Given the description of an element on the screen output the (x, y) to click on. 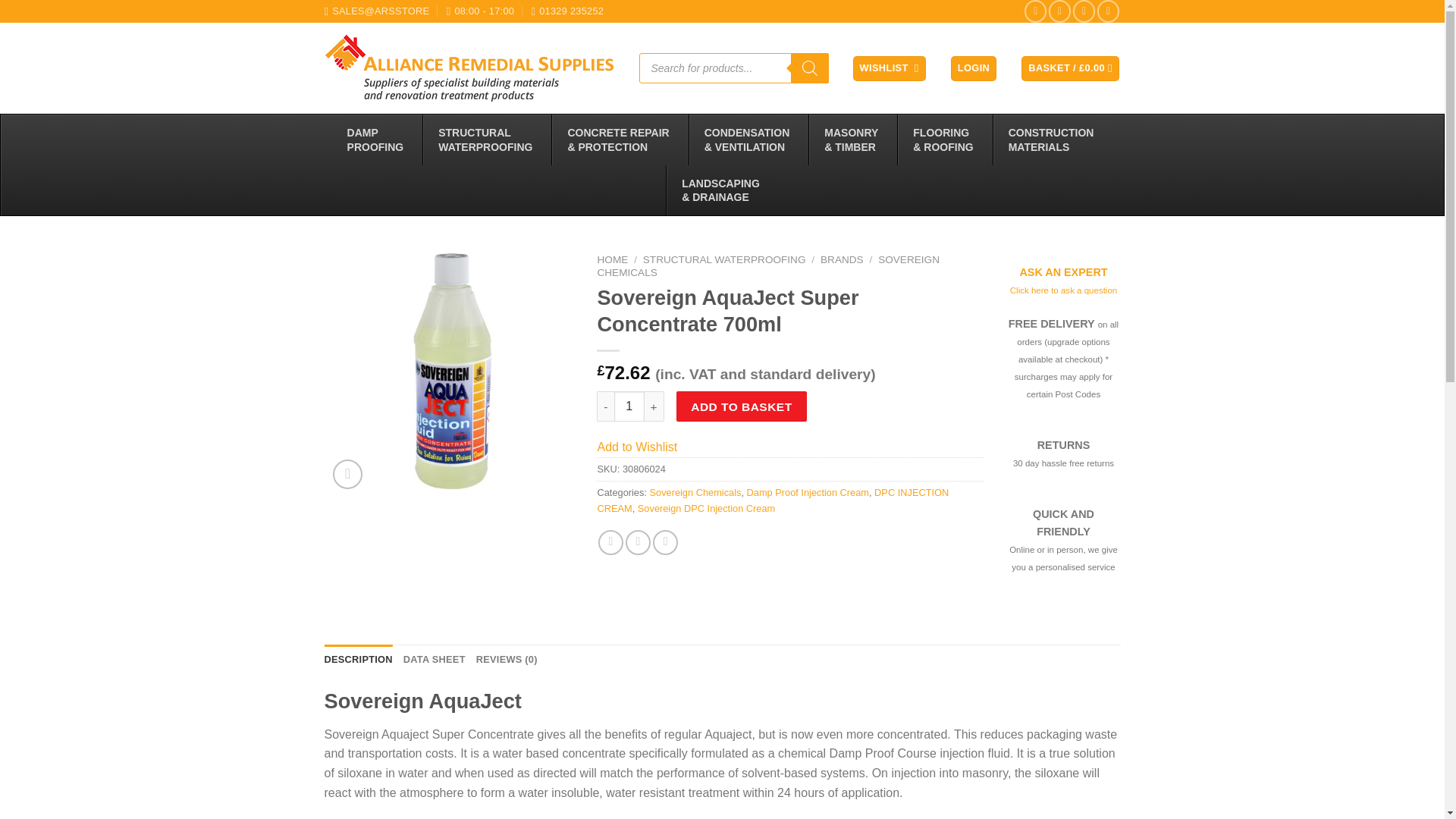
LOGIN (972, 68)
Follow on Facebook (1035, 11)
01329 235252 (567, 11)
01329 235252 (567, 11)
WISHLIST (889, 68)
Follow on Instagram (1059, 11)
Follow on LinkedIn (377, 139)
1 (1083, 11)
08:00 - 17:00 (629, 406)
